Given the description of an element on the screen output the (x, y) to click on. 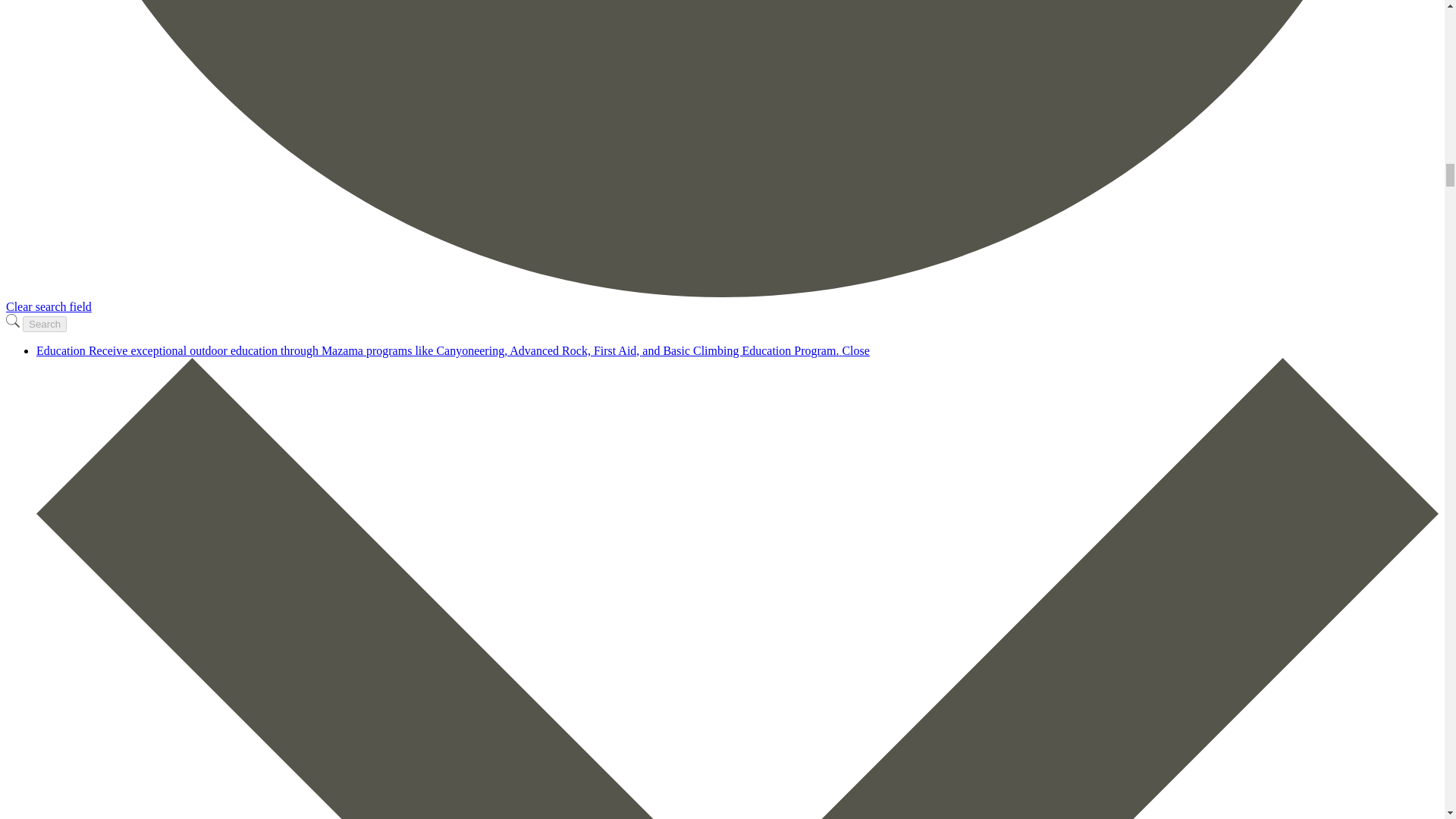
Search (44, 324)
Search (44, 324)
Search Icon Icon of a magnifying glass. (12, 320)
Search (44, 324)
